Given the description of an element on the screen output the (x, y) to click on. 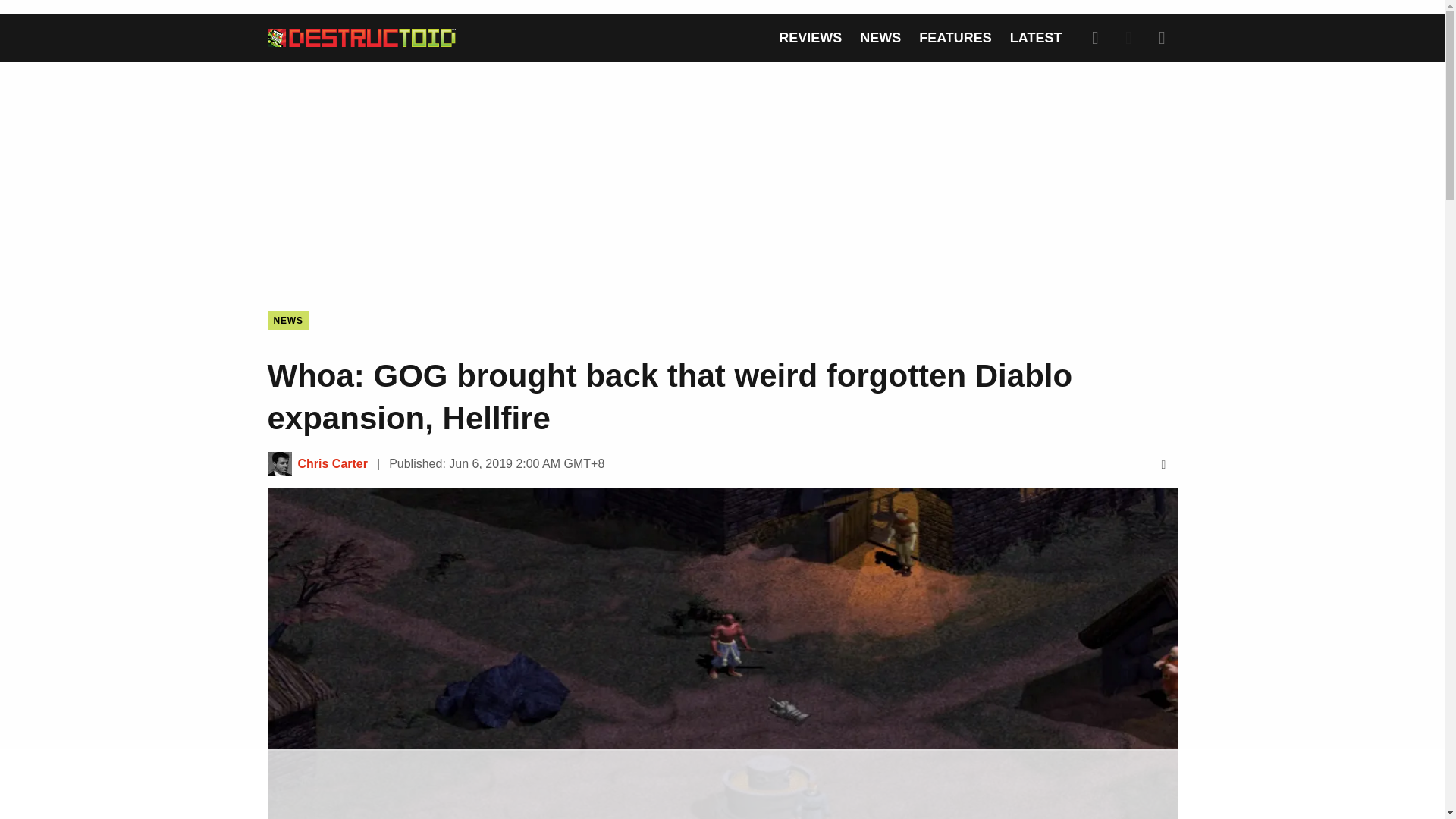
3rd party ad content (721, 174)
LATEST (1036, 37)
NEWS (880, 37)
REVIEWS (809, 37)
FEATURES (954, 37)
NEWS (287, 320)
Dark Mode (1127, 37)
Expand Menu (1161, 37)
3rd party ad content (721, 785)
Search (1094, 37)
